Given the description of an element on the screen output the (x, y) to click on. 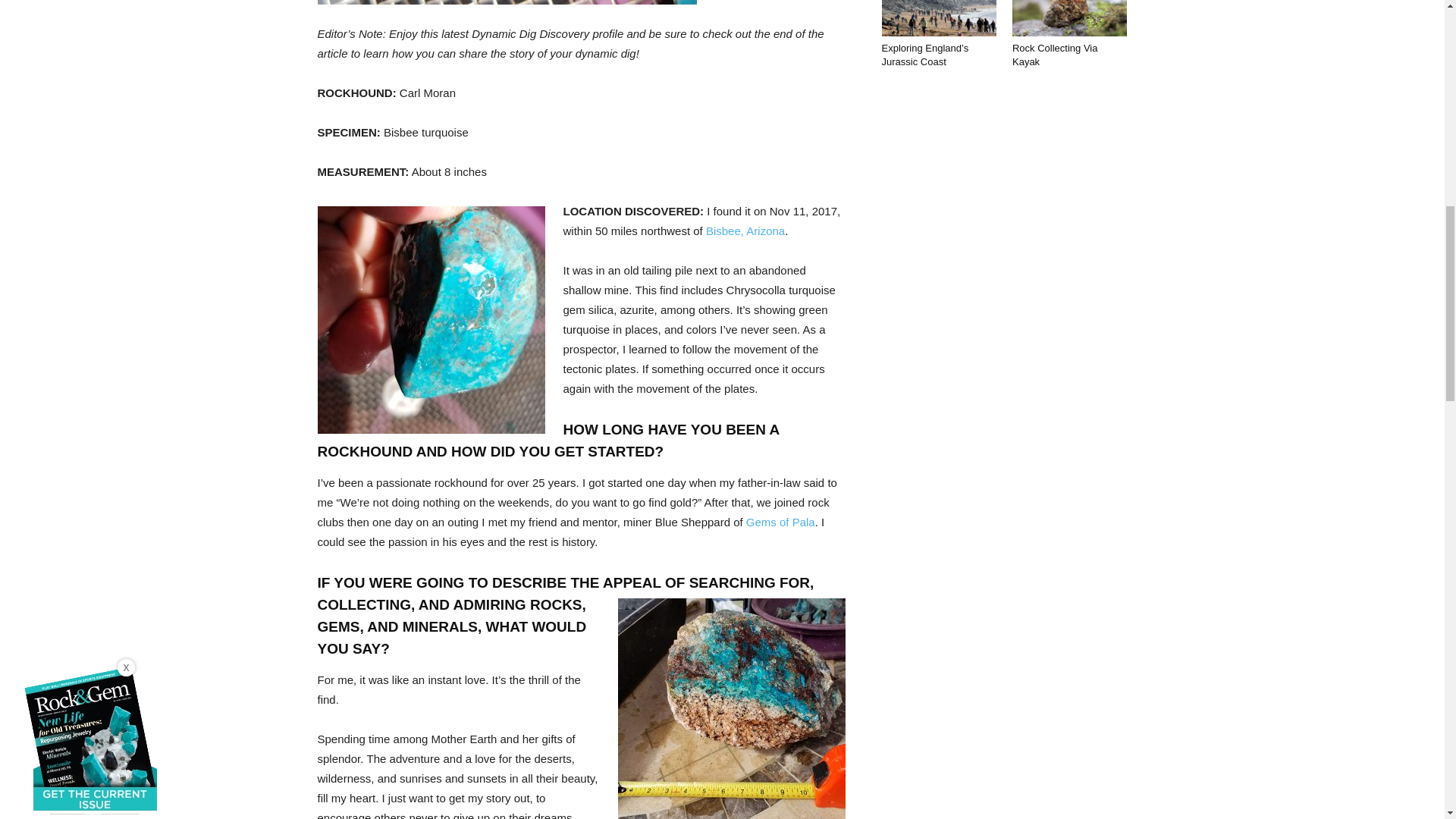
BisbeeTurquoise4 (506, 2)
